Given the description of an element on the screen output the (x, y) to click on. 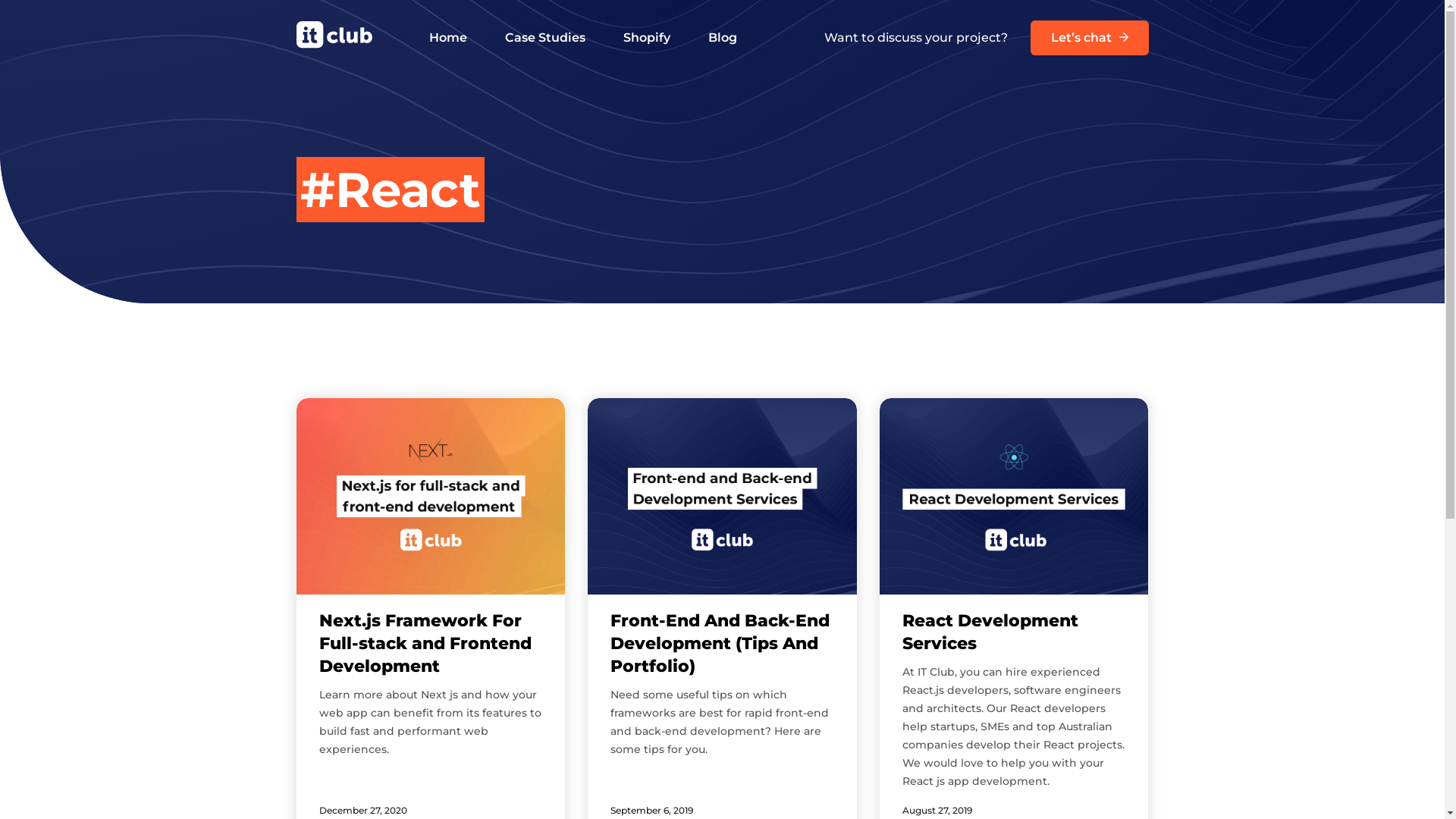
React Development Services Element type: text (990, 631)
Front-End And Back-End Development (Tips And Portfolio) Element type: text (719, 643)
Case Studies Element type: text (545, 37)
Shopify Element type: text (646, 37)
Home Element type: text (448, 37)
Next.js Framework For Full-stack and Frontend Development Element type: text (424, 643)
Blog Element type: text (722, 37)
